Given the description of an element on the screen output the (x, y) to click on. 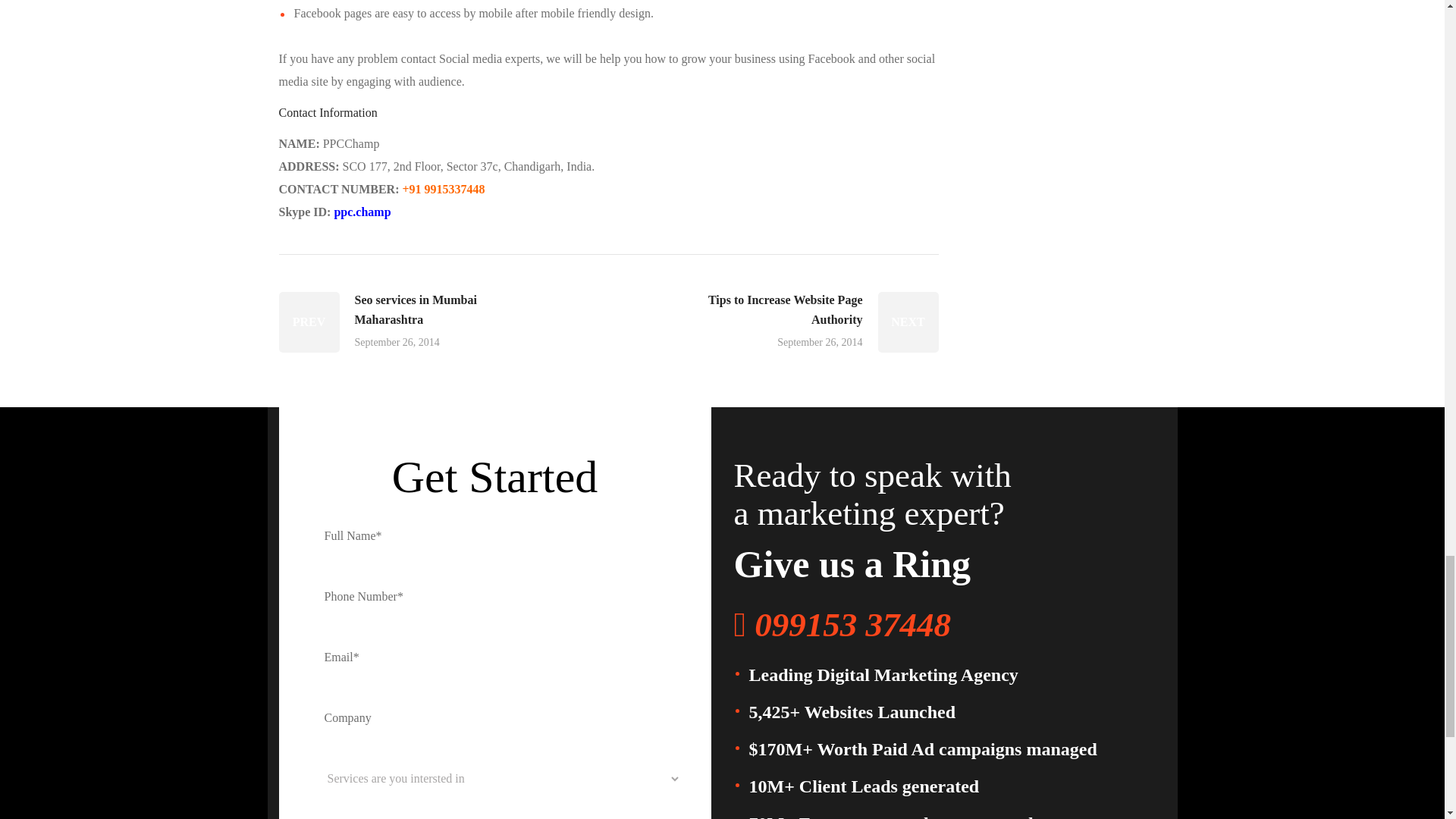
Tips to Increase Website Page Authority (821, 321)
Seo services in  Mumbai Maharashtra (396, 321)
